Given the description of an element on the screen output the (x, y) to click on. 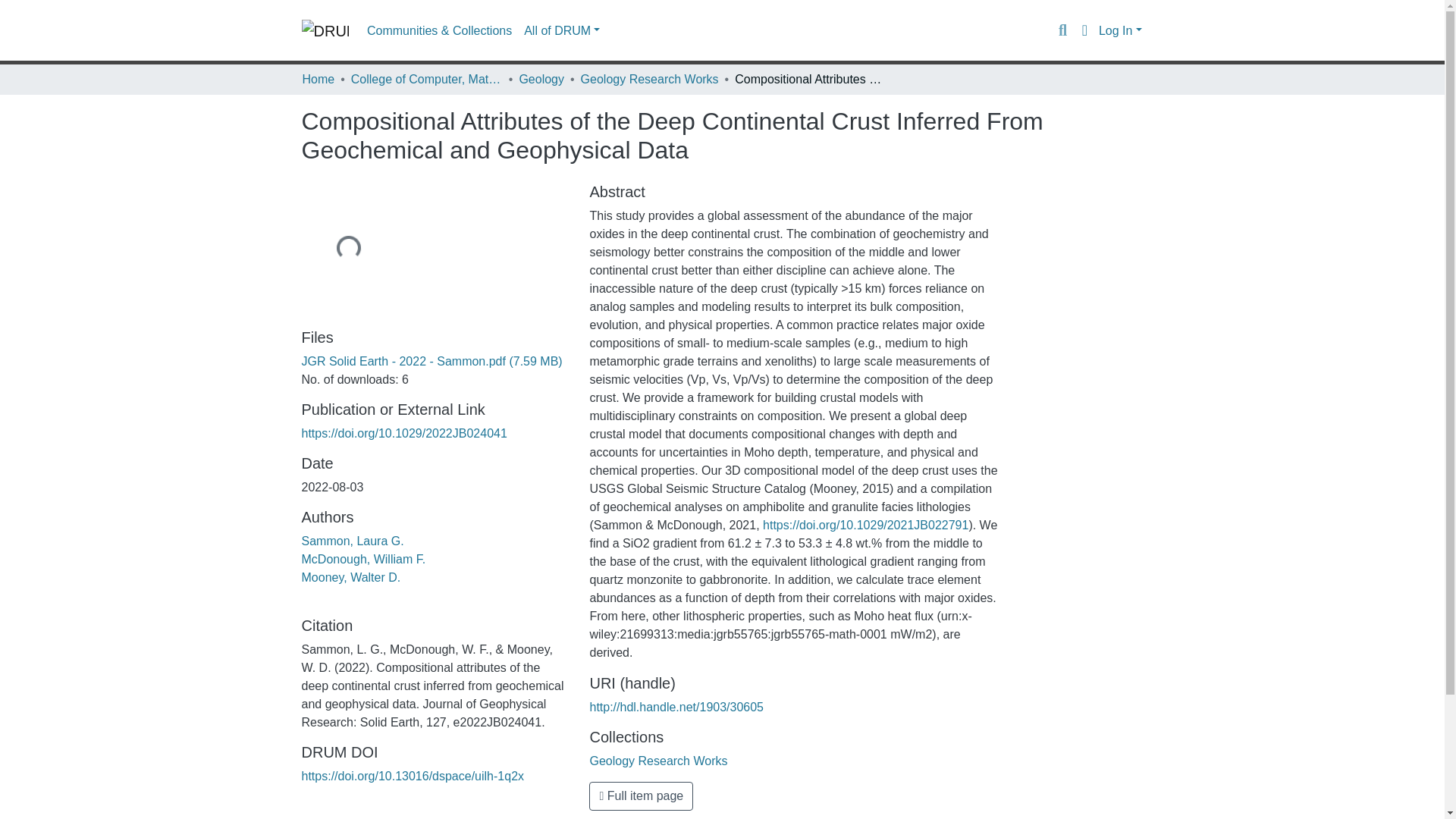
Mooney, Walter D. (351, 576)
All of DRUM (561, 30)
Language switch (1084, 30)
Geology (541, 79)
Search (1061, 30)
McDonough, William F. (363, 558)
Full item page (641, 796)
Geology Research Works (649, 79)
Sammon, Laura G. (352, 540)
Home (317, 79)
